Given the description of an element on the screen output the (x, y) to click on. 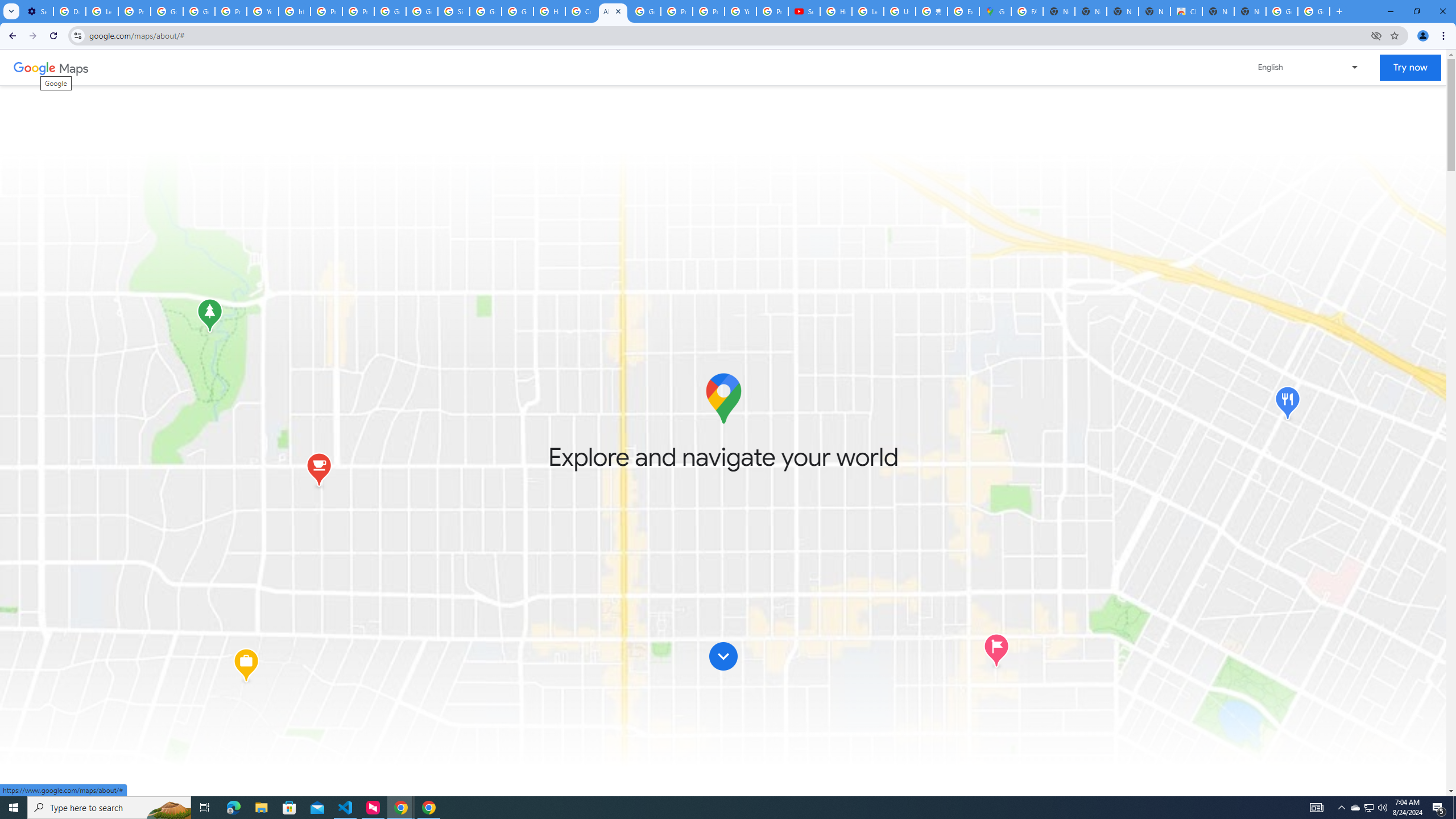
Explore new street-level details - Google Maps Help (963, 11)
Search tabs (10, 11)
Google Images (1313, 11)
Privacy Help Center - Policies Help (676, 11)
Third-party cookies blocked (1376, 35)
Bookmark this tab (1393, 35)
Privacy Help Center - Policies Help (326, 11)
Google (34, 67)
Try now (1409, 67)
Restore (1416, 11)
New Tab (1249, 11)
YouTube (262, 11)
Maps (73, 67)
